Given the description of an element on the screen output the (x, y) to click on. 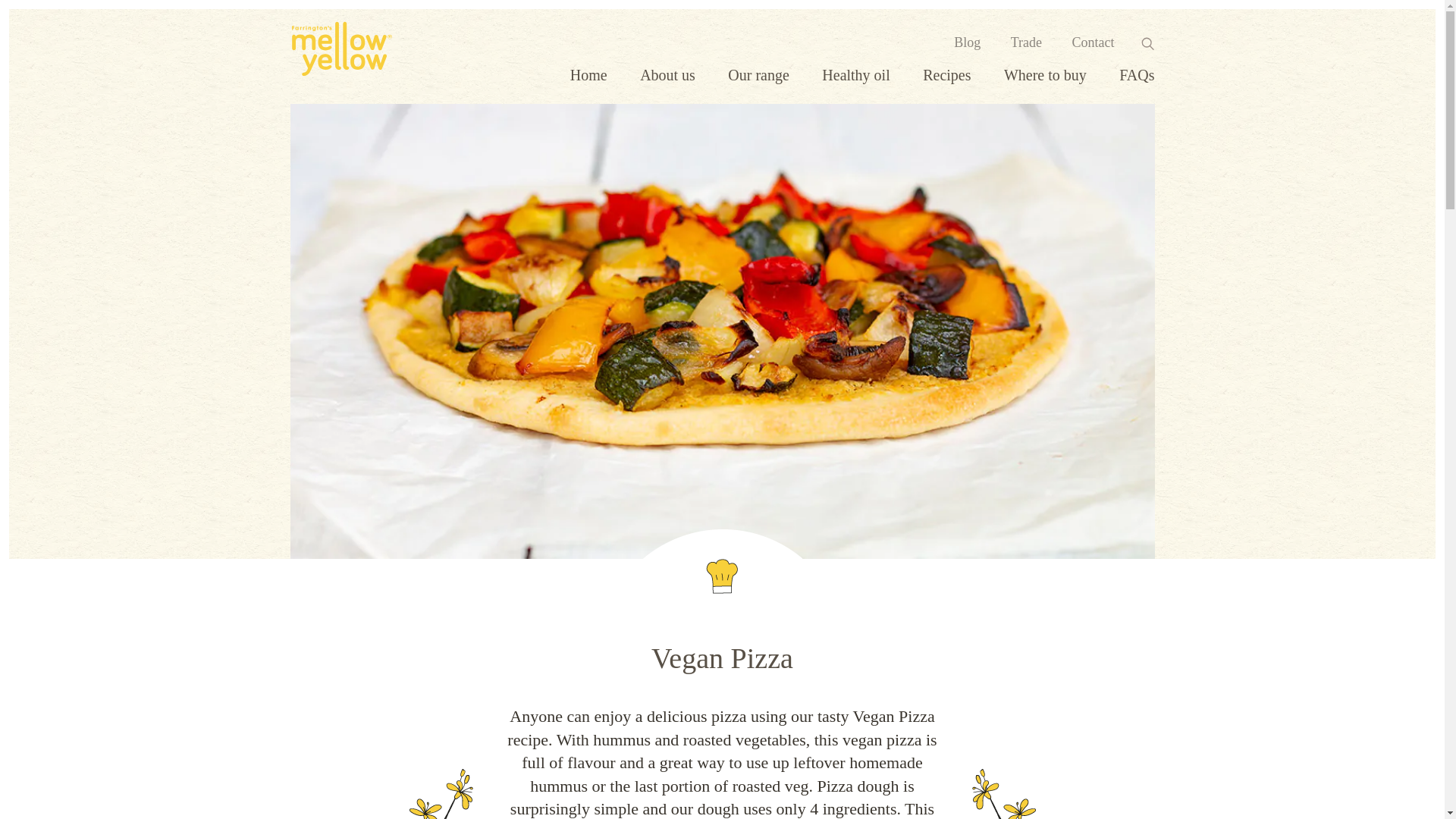
Home (588, 74)
About us (667, 74)
Our range (758, 74)
Blog (966, 42)
Contact (1093, 42)
Recipes (947, 74)
Trade (1026, 42)
FAQs (1136, 74)
Where to buy (1045, 74)
Healthy oil (855, 74)
